Given the description of an element on the screen output the (x, y) to click on. 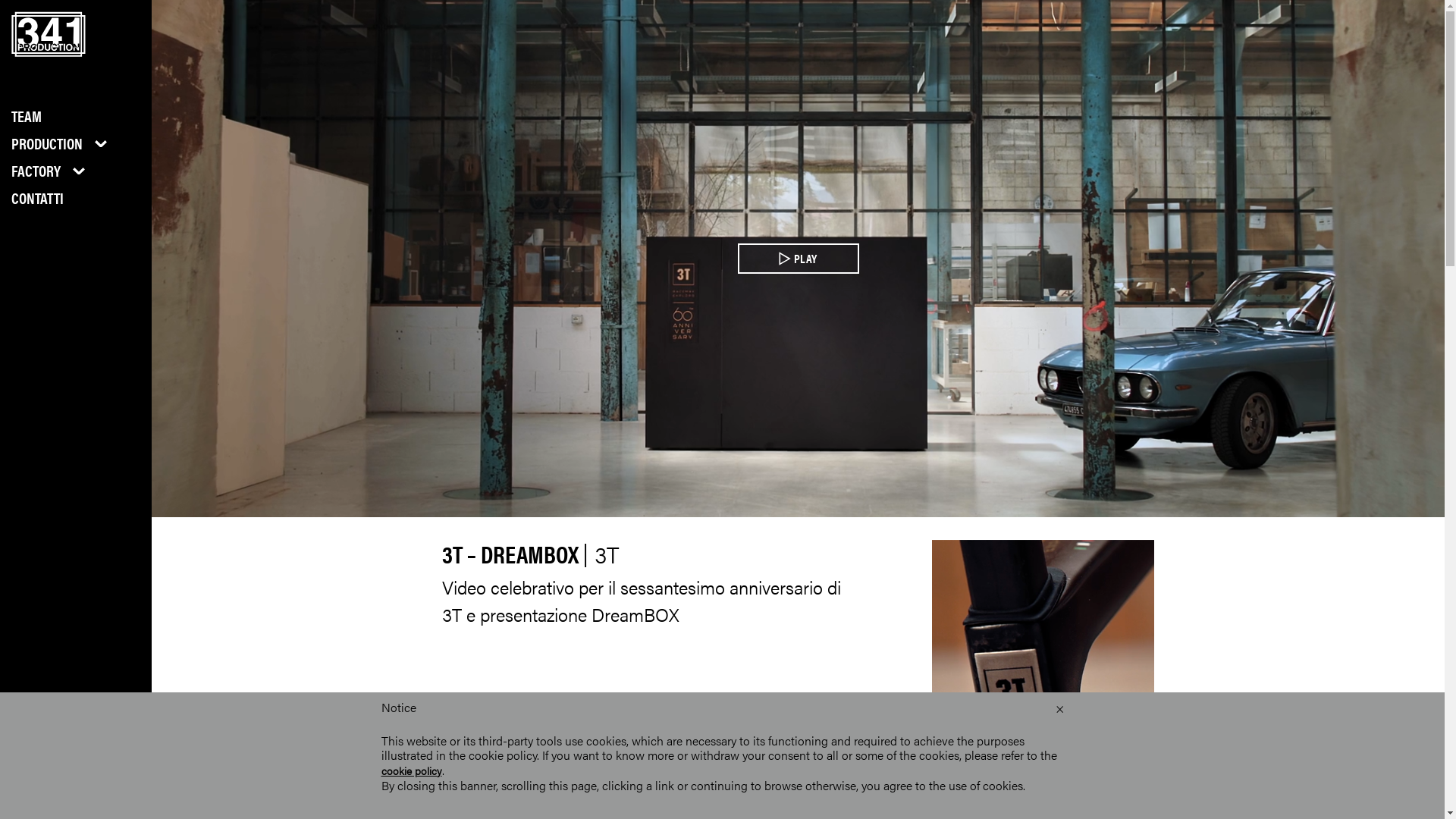
Privacy Policy Element type: text (40, 785)
FACTORY Element type: text (35, 170)
PLAY Element type: text (797, 258)
Cookie Policy Element type: text (104, 785)
TEAM Element type: text (26, 115)
PRODUCTION Element type: text (46, 142)
CONTATTI Element type: text (37, 197)
DOT agency Element type: text (76, 800)
cookie policy Element type: text (410, 770)
info@341production.com Element type: text (62, 755)
